Given the description of an element on the screen output the (x, y) to click on. 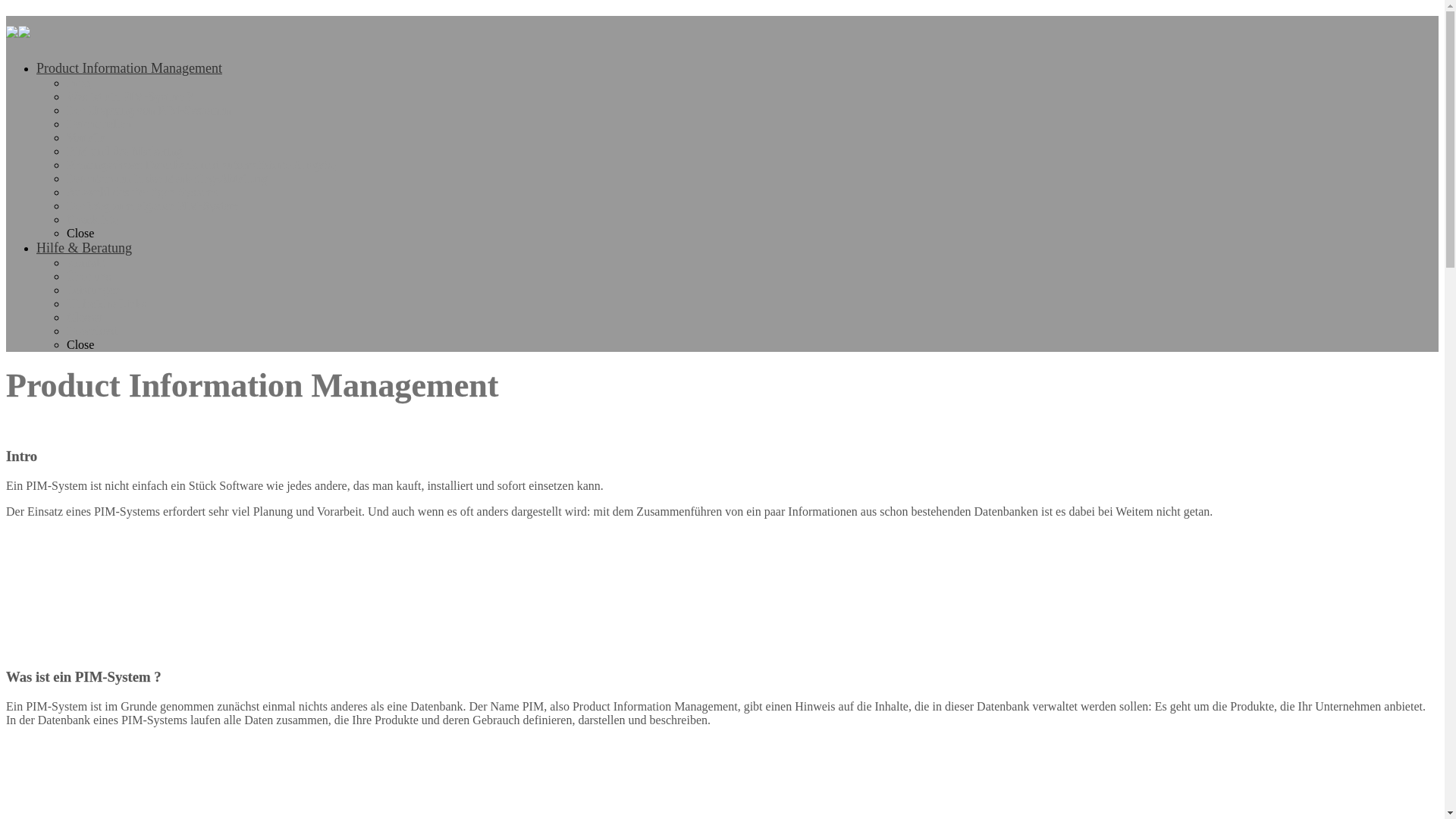
Auswahl des richtigen Systems Element type: text (142, 191)
Der Weg zum eigenen PIM-System Element type: text (152, 205)
Vorteile Element type: text (85, 137)
Hilfe & Beratung Element type: text (83, 247)
Hilfreiche Links Element type: text (106, 303)
PIM und das Marketing Element type: text (124, 150)
Planungsphase: Datenbank und automatisierte Ausgabe Element type: text (200, 164)
Datenbanken in der Marketing-Abteilung Element type: text (166, 178)
Intro Element type: text (78, 82)
pim Element type: hover (18, 29)
Checkliste Element type: text (92, 219)
Was ist ein PIM-System ? Element type: text (129, 96)
Kontakt Element type: text (86, 262)
Download Element type: text (91, 330)
Der Ursprung von PIM-Systemen Element type: text (148, 109)
Product Information Management Element type: text (129, 67)
Leistungen Element type: text (93, 289)
Glossar Element type: text (84, 316)
Datenquellen Element type: text (98, 123)
